Given the description of an element on the screen output the (x, y) to click on. 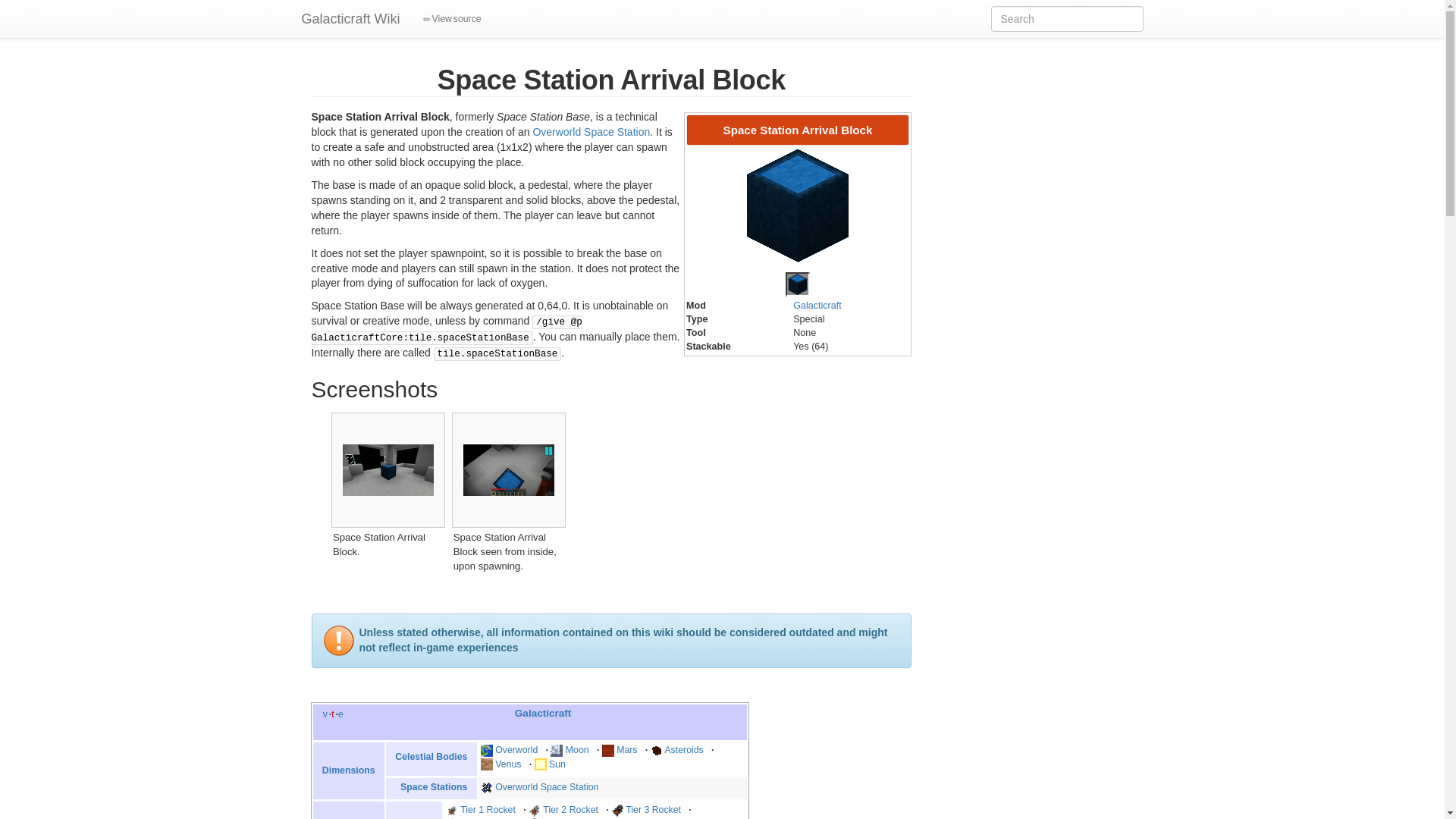
Moon (577, 749)
File:Space Station Arrival Block.png (797, 204)
Overworld (516, 749)
Overworld (516, 749)
View source (452, 18)
Category:Celestial Bodies (430, 756)
Space Stations (433, 787)
Overworld (486, 749)
Space Station Arrival Block (797, 282)
Venus (508, 764)
e (340, 714)
Template:Galacticraft (325, 714)
Category:Dimensions (348, 769)
Tier 2 Rocket (570, 809)
